Given the description of an element on the screen output the (x, y) to click on. 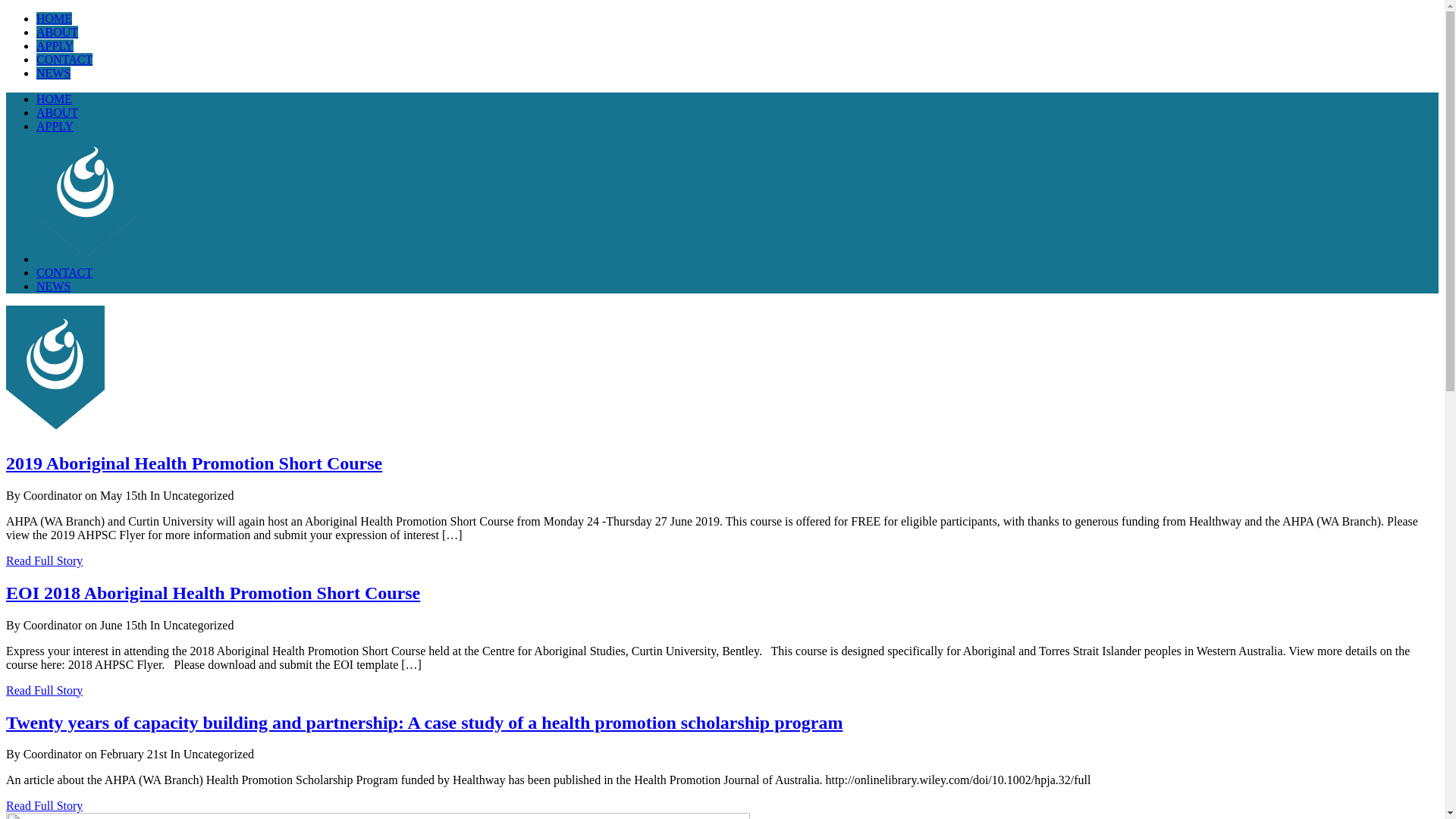
Health Promotion Scholarships Element type: hover (85, 198)
HOME Element type: text (54, 98)
ABOUT Element type: text (57, 31)
APPLY Element type: text (54, 45)
Health Promotion Scholarships Element type: hover (55, 370)
EOI 2018 Aboriginal Health Promotion Short Course Element type: text (213, 592)
NEWS Element type: text (53, 72)
HOME Element type: text (54, 18)
ABOUT Element type: text (57, 112)
NEWS Element type: text (53, 285)
Read Full Story Element type: text (44, 560)
CONTACT Element type: text (64, 59)
CONTACT Element type: text (64, 272)
Read Full Story Element type: text (44, 805)
Read Full Story Element type: text (44, 690)
APPLY Element type: text (54, 125)
2019 Aboriginal Health Promotion Short Course Element type: text (194, 463)
